Given the description of an element on the screen output the (x, y) to click on. 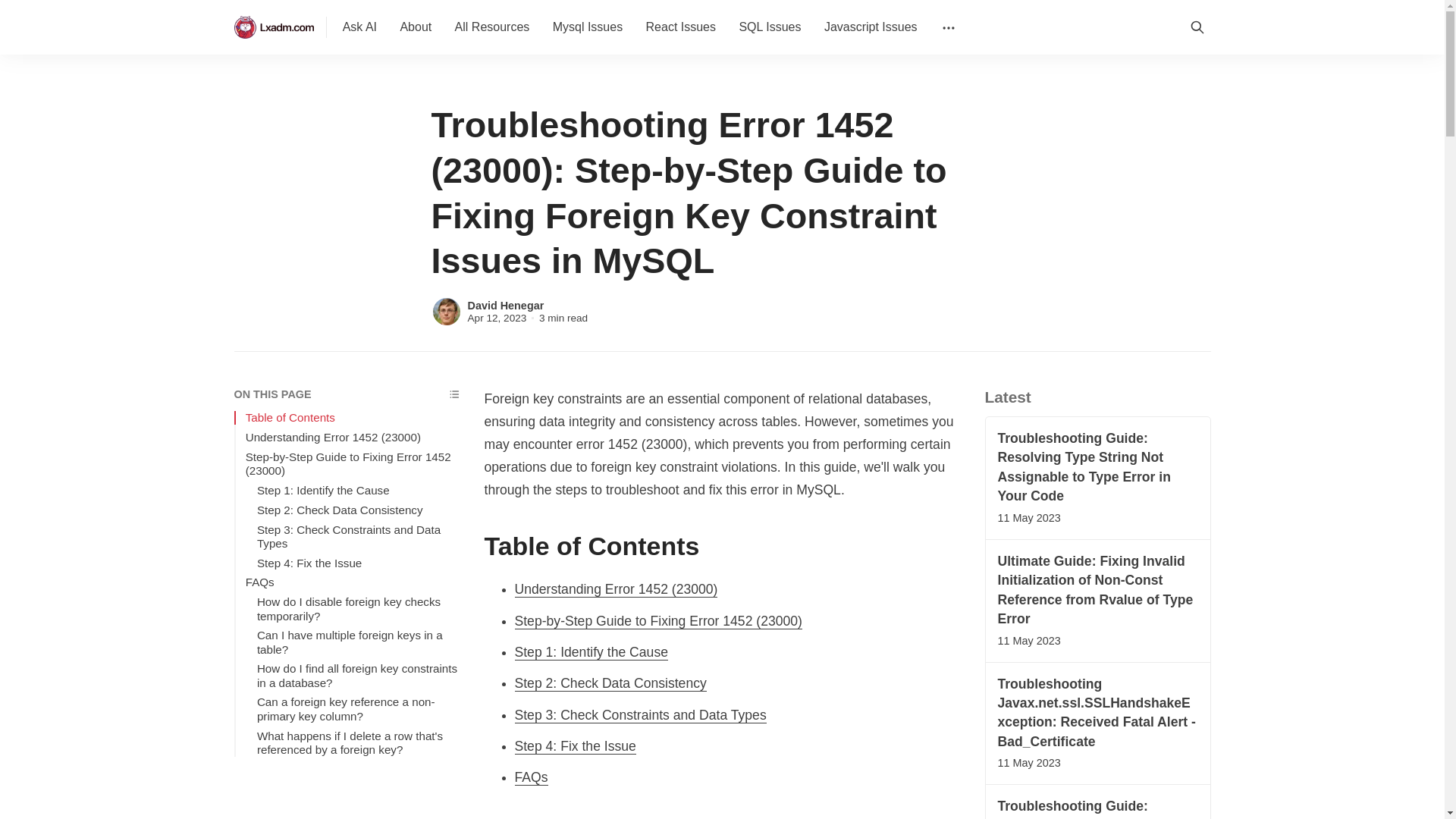
Mysql Issues (587, 27)
About (415, 27)
David Henegar (505, 305)
Search (1195, 26)
SQL Issues (769, 27)
Javascript Issues (870, 27)
ON THIS PAGE (346, 394)
David Henegar (445, 311)
Table of Contents (353, 418)
Ask AI (359, 27)
React Issues (681, 27)
All Resources (491, 27)
